Given the description of an element on the screen output the (x, y) to click on. 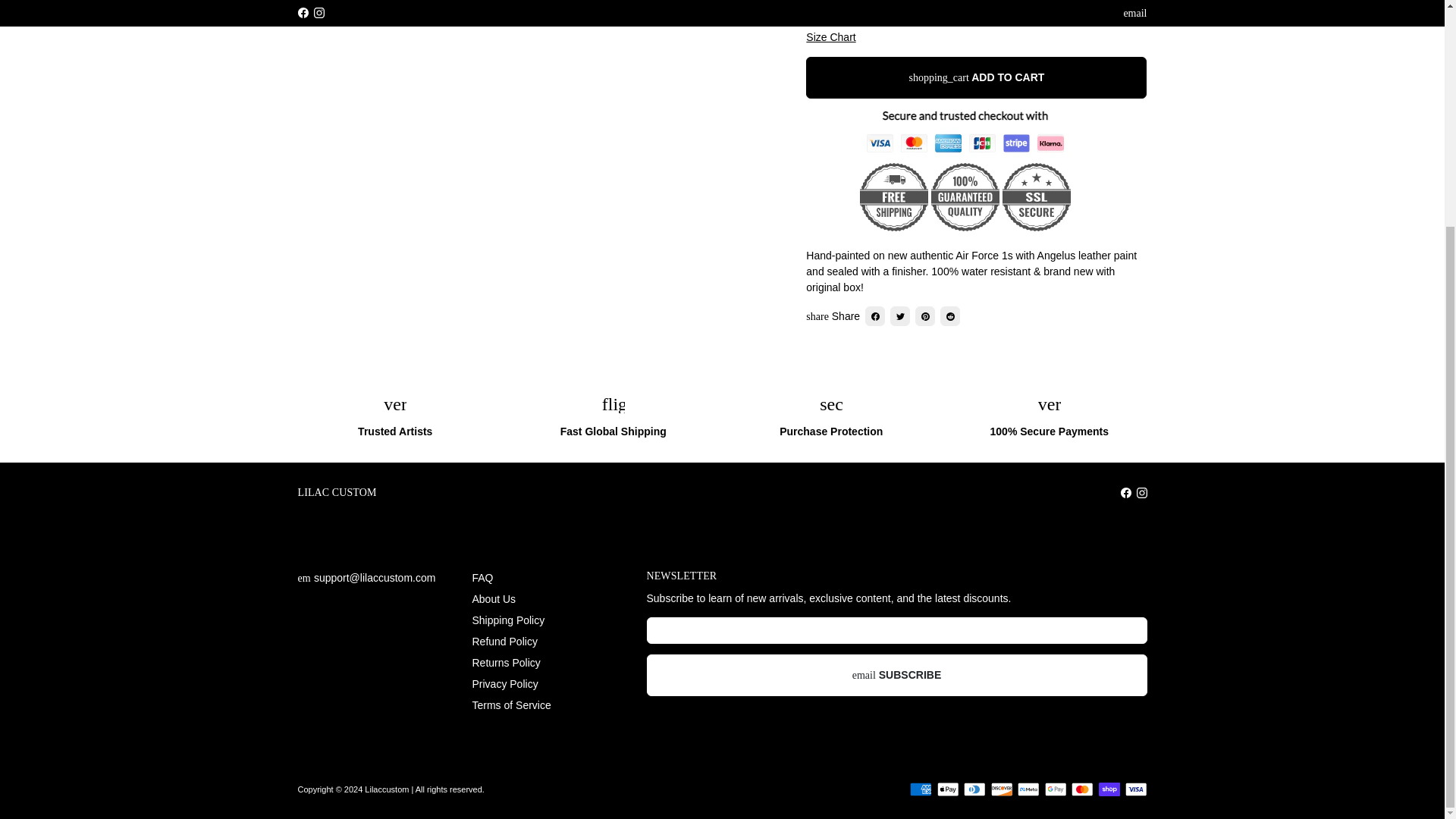
Shop Pay (1108, 789)
Google Pay (1056, 789)
American Express (920, 789)
Visa (1136, 789)
Diners Club (974, 789)
Mastercard (1082, 789)
Share on Facebook (874, 315)
Tweet on Twitter (899, 315)
Discover (1000, 789)
Meta Pay (1028, 789)
Apple Pay (948, 789)
